Given the description of an element on the screen output the (x, y) to click on. 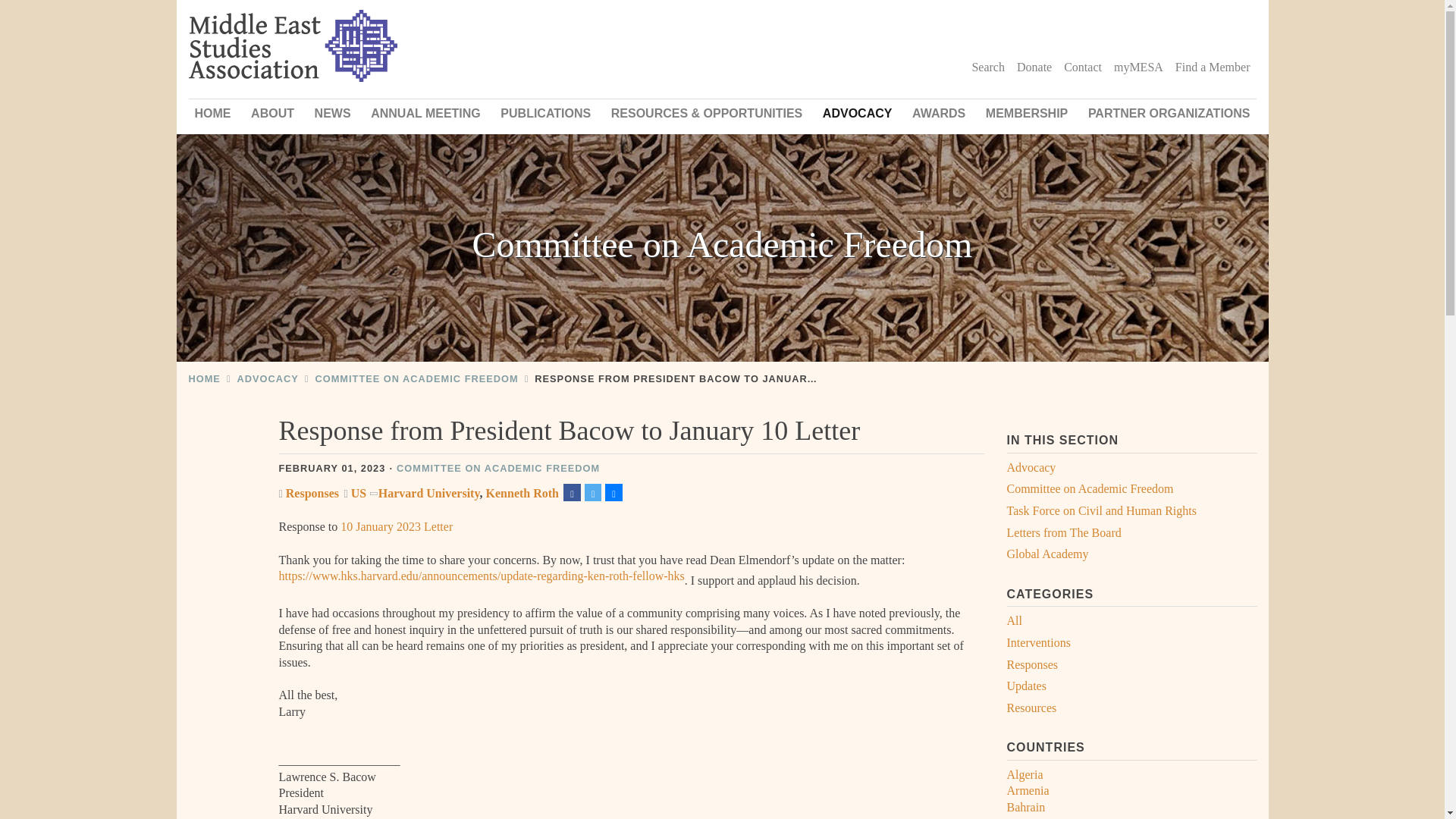
NEWS (332, 113)
Search (987, 67)
ABOUT (271, 113)
ANNUAL MEETING (425, 113)
HOME (211, 113)
Contact (1083, 67)
myMESA (1138, 67)
Find a Member (1212, 67)
Donate (1034, 67)
